Given the description of an element on the screen output the (x, y) to click on. 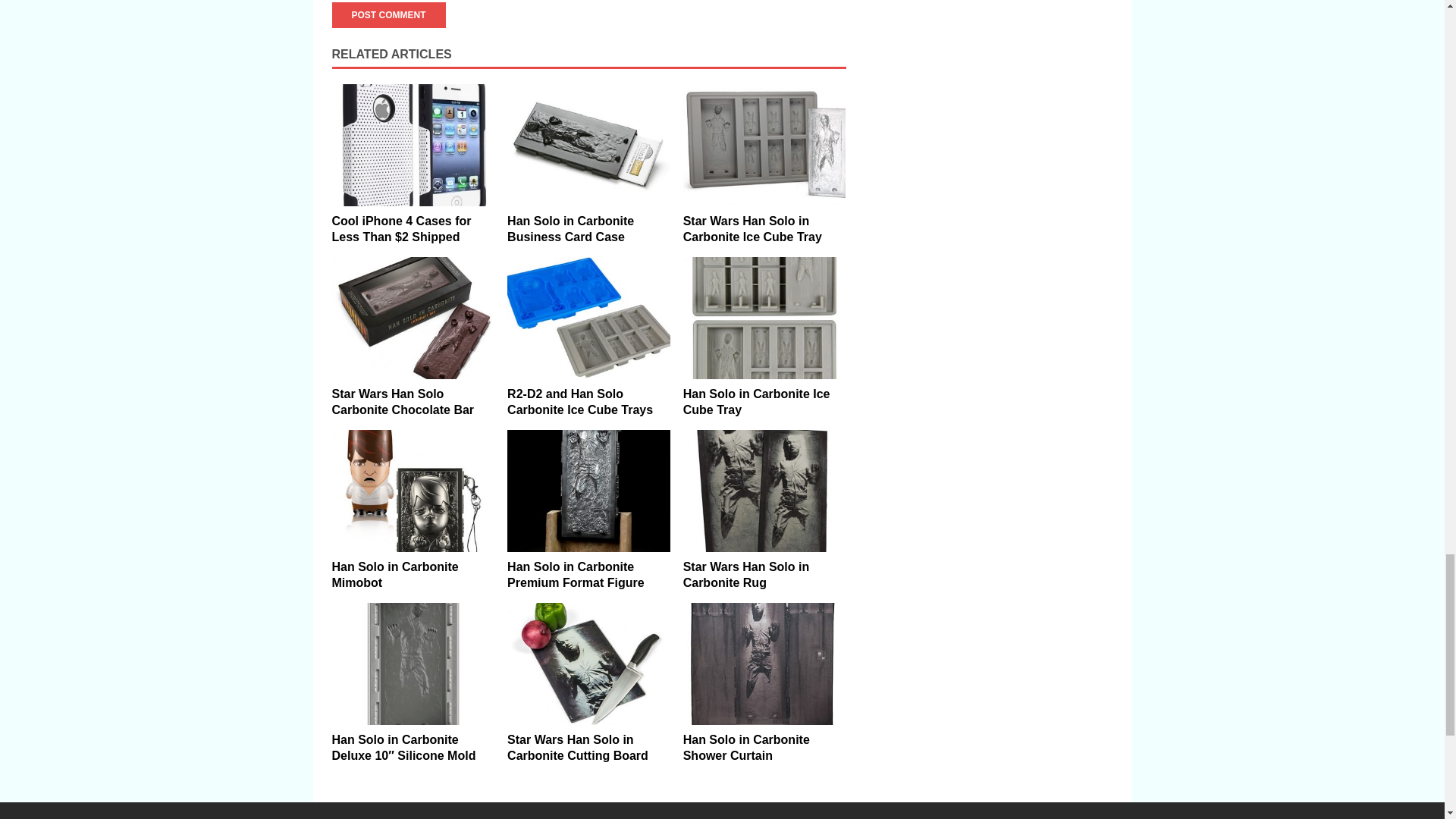
Han Solo in Carbonite Business Card Case (587, 145)
Post Comment (388, 14)
